Given the description of an element on the screen output the (x, y) to click on. 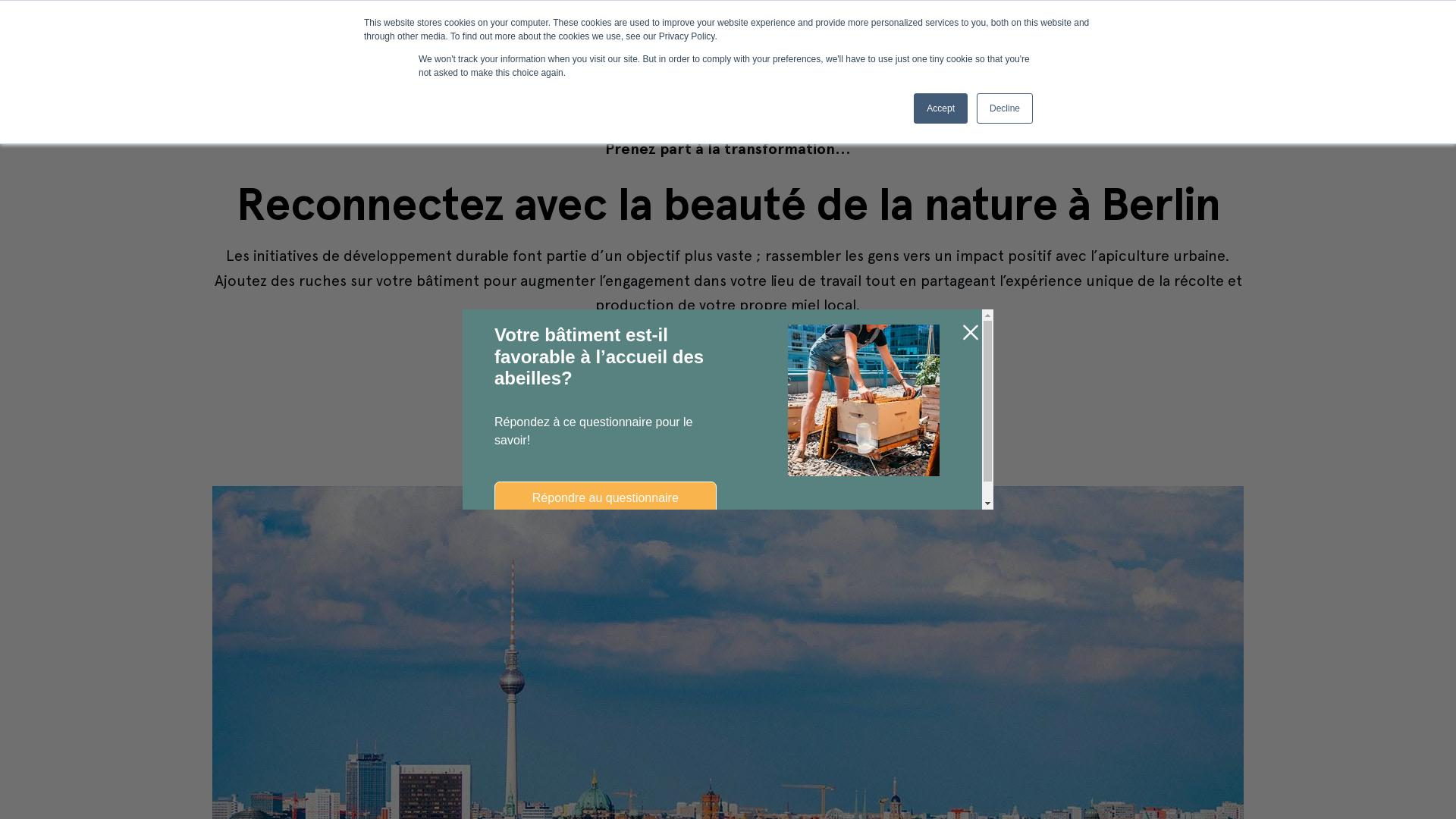
Nos services Element type: text (369, 29)
Accept Element type: text (940, 108)
MaRuche Element type: text (1082, 28)
Nos forfaits Element type: text (475, 30)
Ressources Element type: text (577, 29)
Compagnie Element type: text (832, 29)
Cadeaux corporatifs Element type: text (704, 30)
Decline Element type: text (1004, 108)
